Given the description of an element on the screen output the (x, y) to click on. 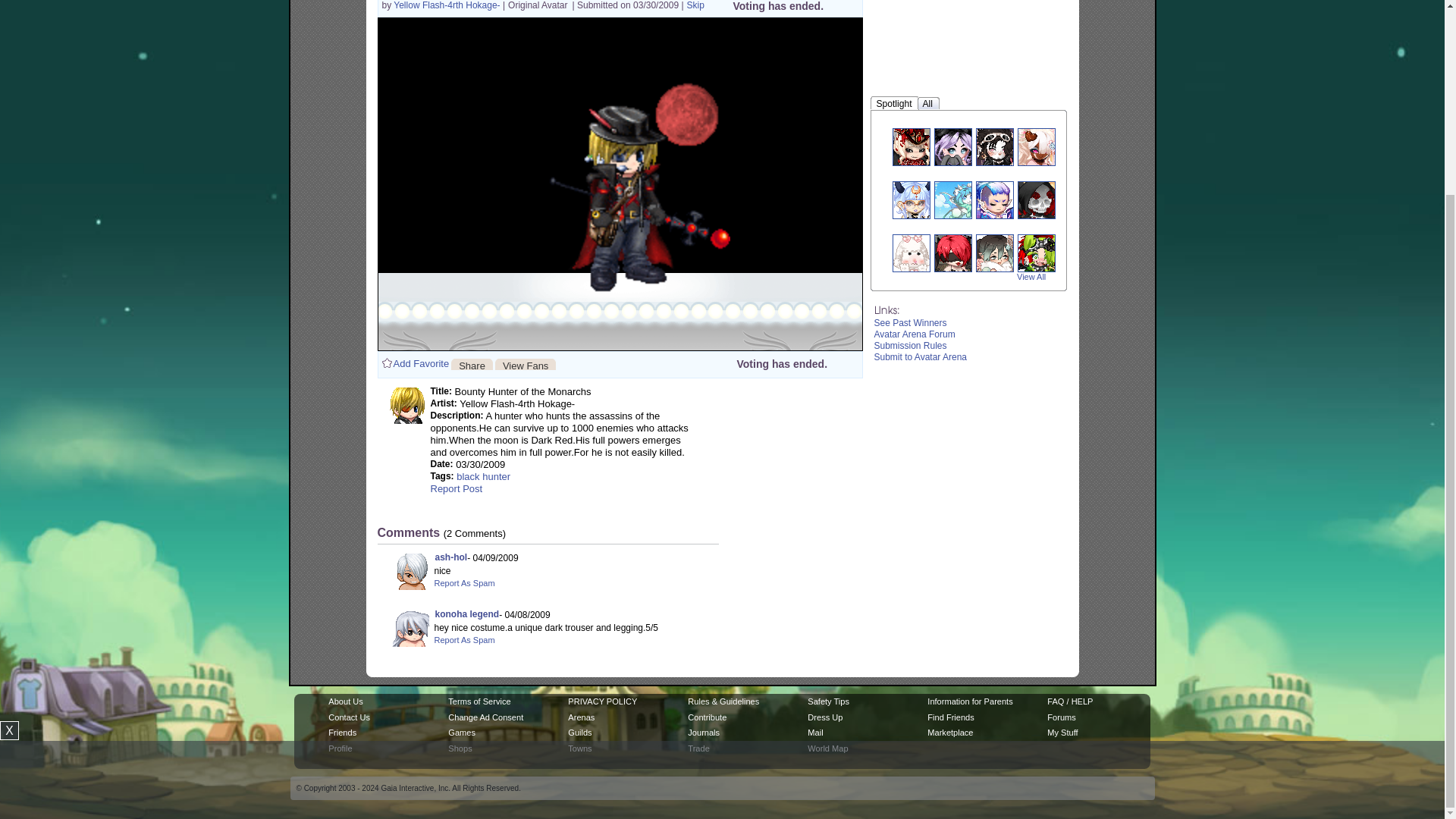
View Yellow Flash-4rth Hokage-'s profile (447, 5)
